Given the description of an element on the screen output the (x, y) to click on. 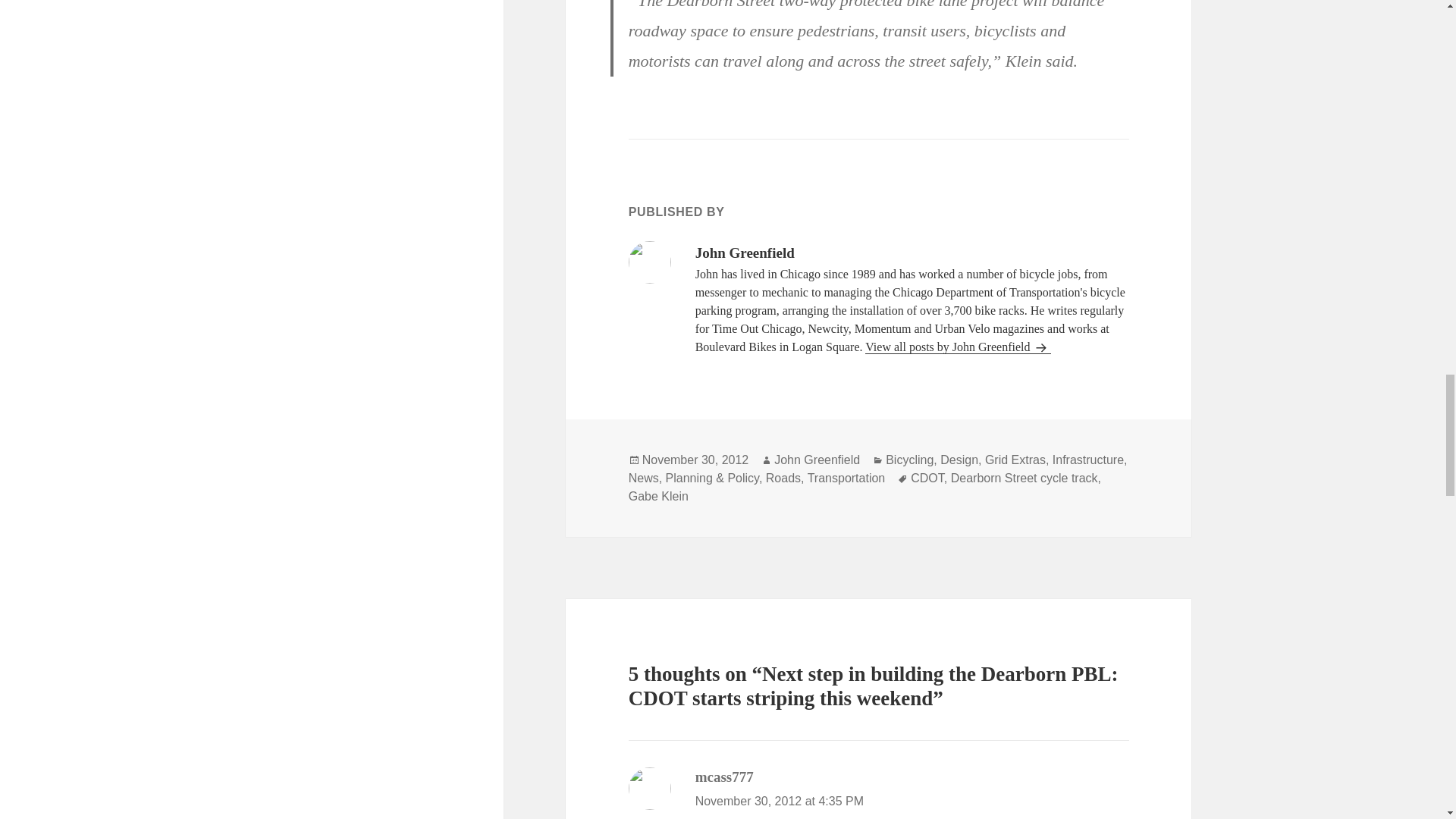
Grid Extras (1015, 459)
Gabe Klein (658, 496)
Bicycling (909, 459)
November 30, 2012 (695, 459)
Infrastructure (1088, 459)
News (643, 478)
View all posts by John Greenfield (957, 346)
Design (959, 459)
Transportation (846, 478)
November 30, 2012 at 4:35 PM (779, 800)
Dearborn Street cycle track (1023, 478)
John Greenfield (817, 459)
CDOT (927, 478)
Roads (782, 478)
